Given the description of an element on the screen output the (x, y) to click on. 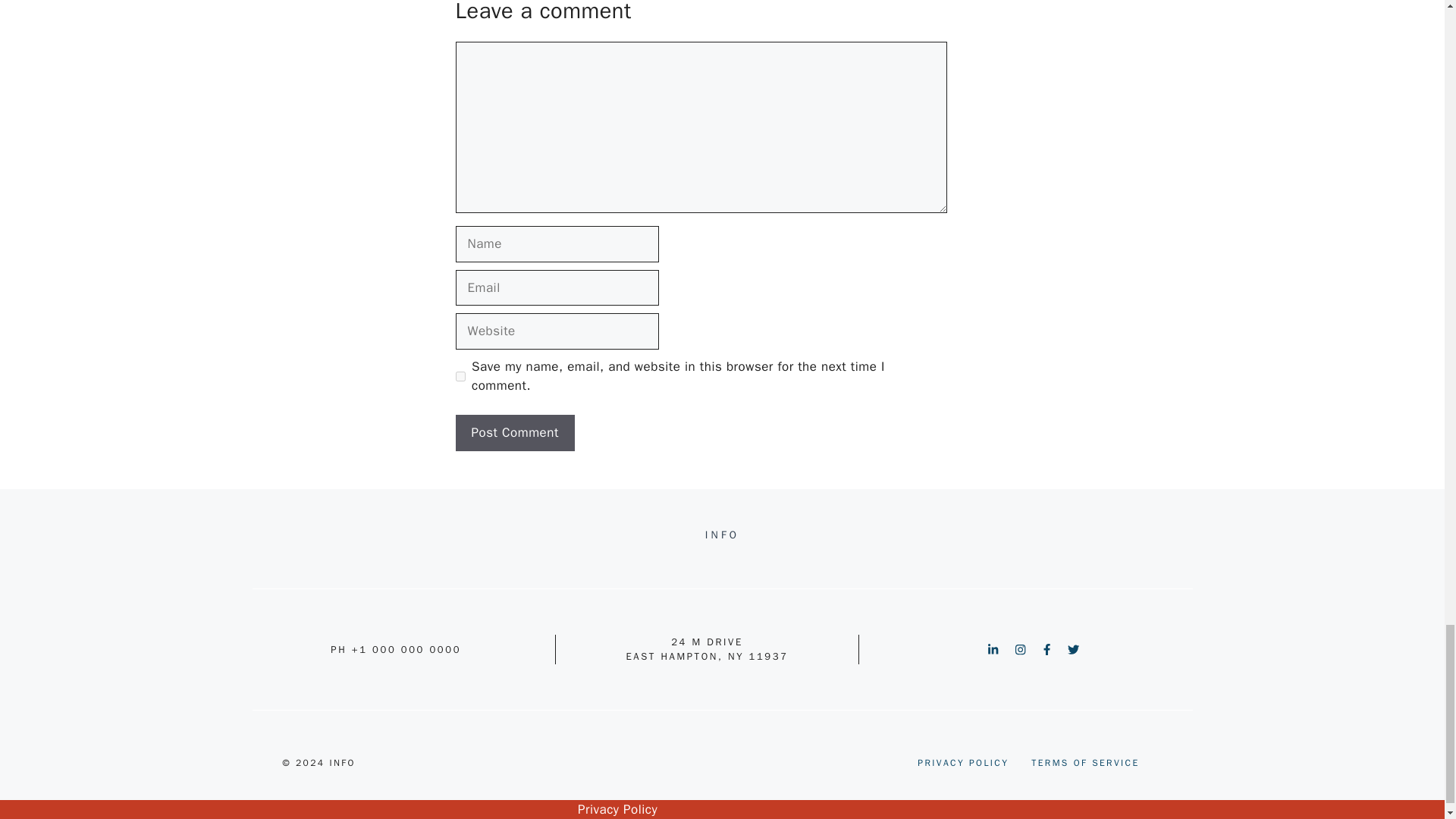
Privacy Policy (618, 809)
PRIVACY POLICY (963, 762)
yes (459, 376)
Post Comment (513, 432)
TERMS OF SERVICE (1084, 762)
Post Comment (513, 432)
